Given the description of an element on the screen output the (x, y) to click on. 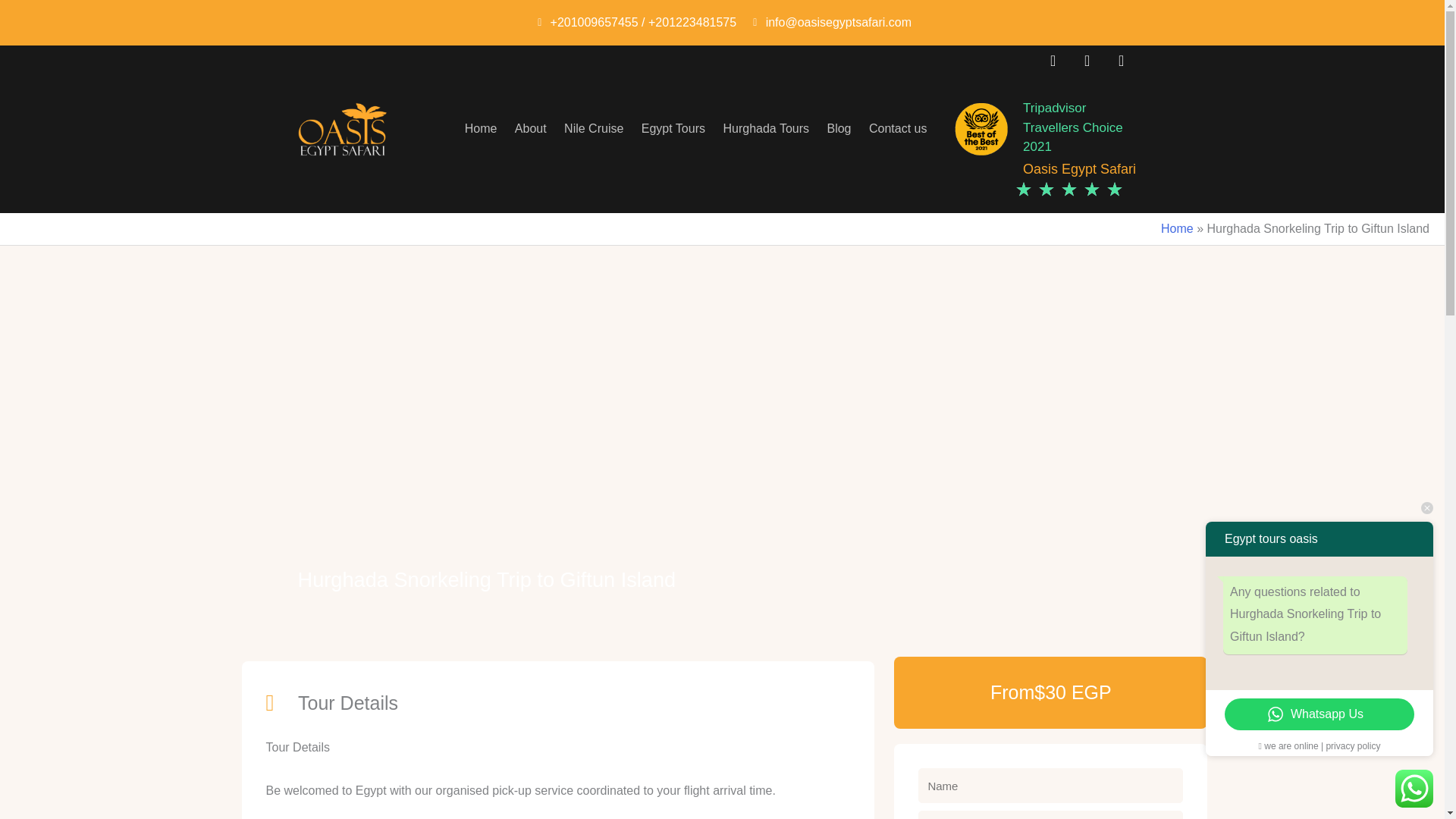
Contact us (898, 128)
Hurghada Tours (765, 128)
Nile Cruise (593, 128)
Egypt Tours (673, 128)
